Given the description of an element on the screen output the (x, y) to click on. 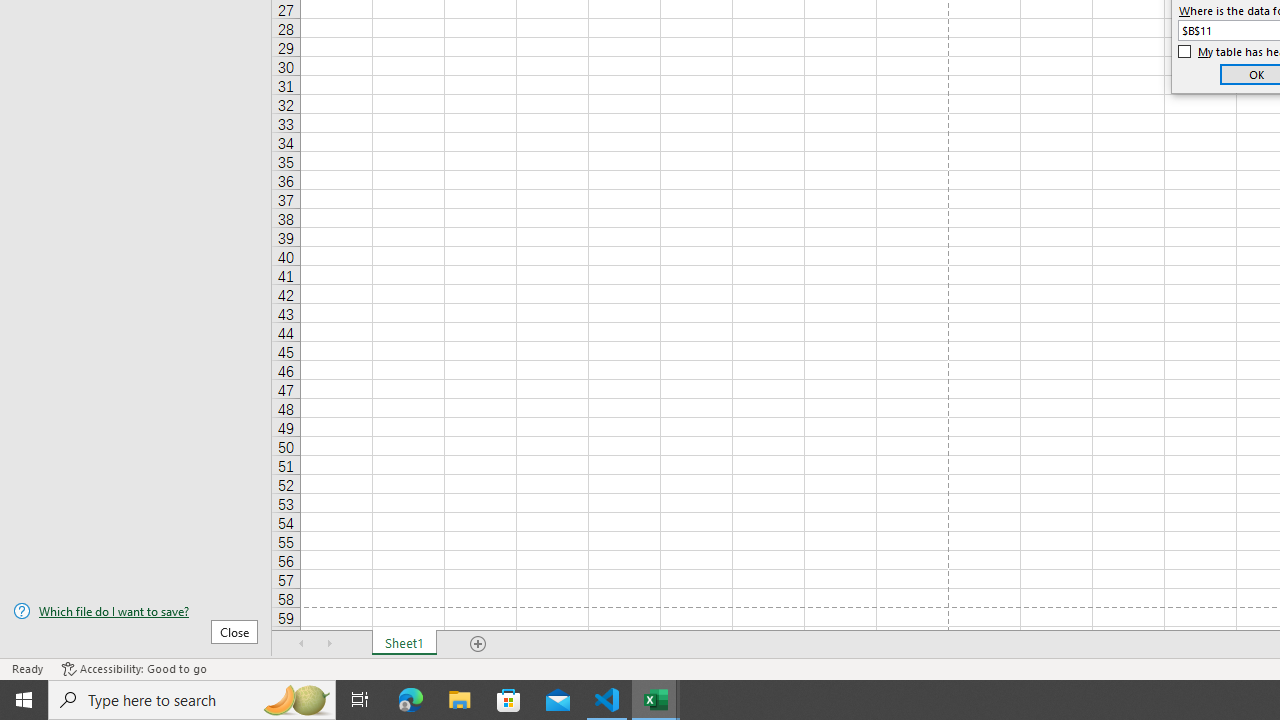
Scroll Left (302, 644)
Accessibility Checker Accessibility: Good to go (134, 668)
Close (234, 631)
Which file do I want to save? (136, 611)
Scroll Right (330, 644)
Sheet1 (404, 644)
Add Sheet (478, 644)
